Given the description of an element on the screen output the (x, y) to click on. 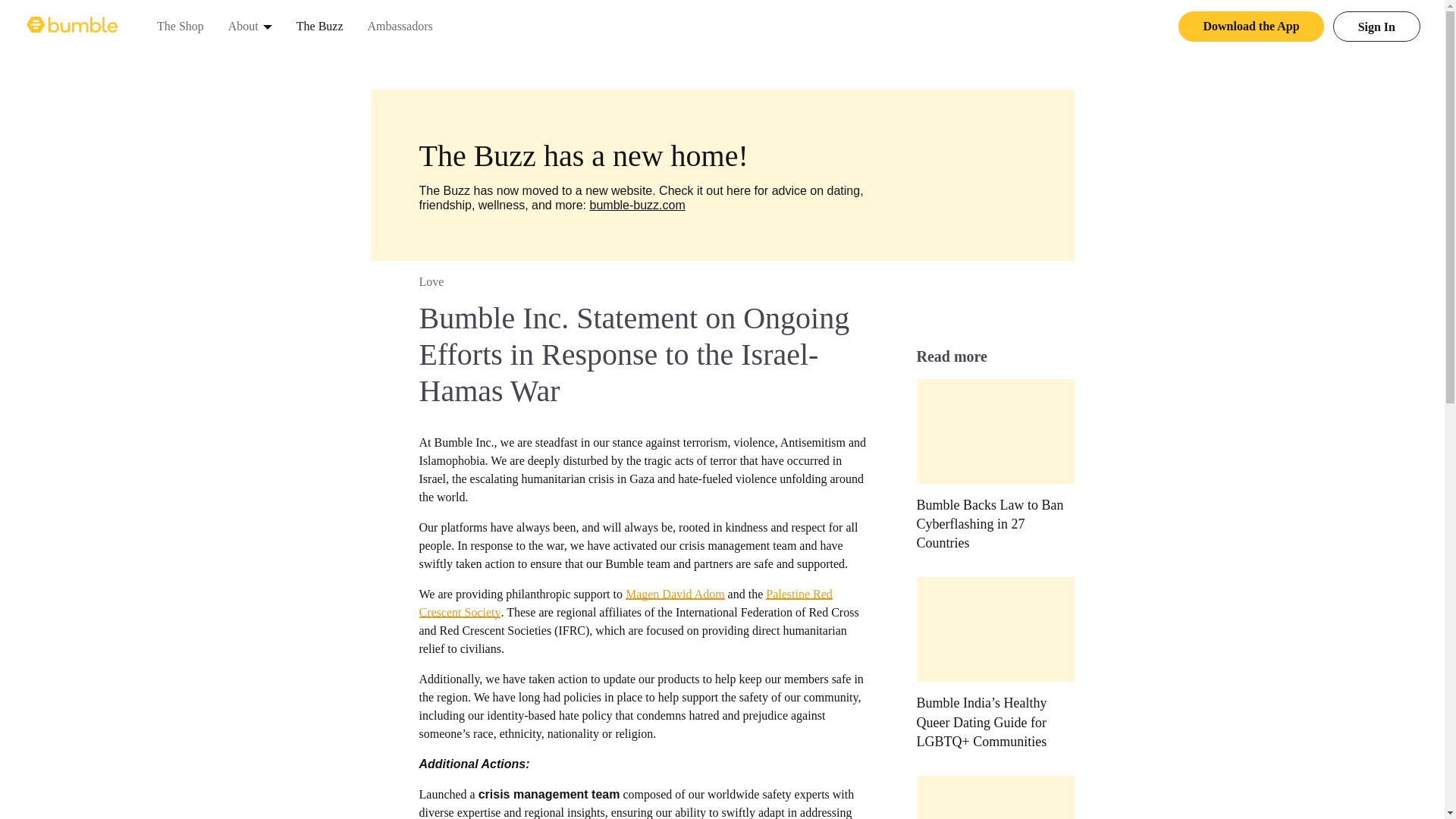
Sign In (1377, 26)
Ambassadors (400, 25)
Bumble Backs Law to Ban Cyberflashing in 27 Countries (994, 465)
bumble-buzz.com (637, 205)
Magen David Adom (675, 594)
Expand About (267, 26)
About (243, 26)
The Shop (180, 25)
Download the App (1250, 26)
The Buzz (320, 25)
Palestine Red Crescent Society (625, 603)
